Given the description of an element on the screen output the (x, y) to click on. 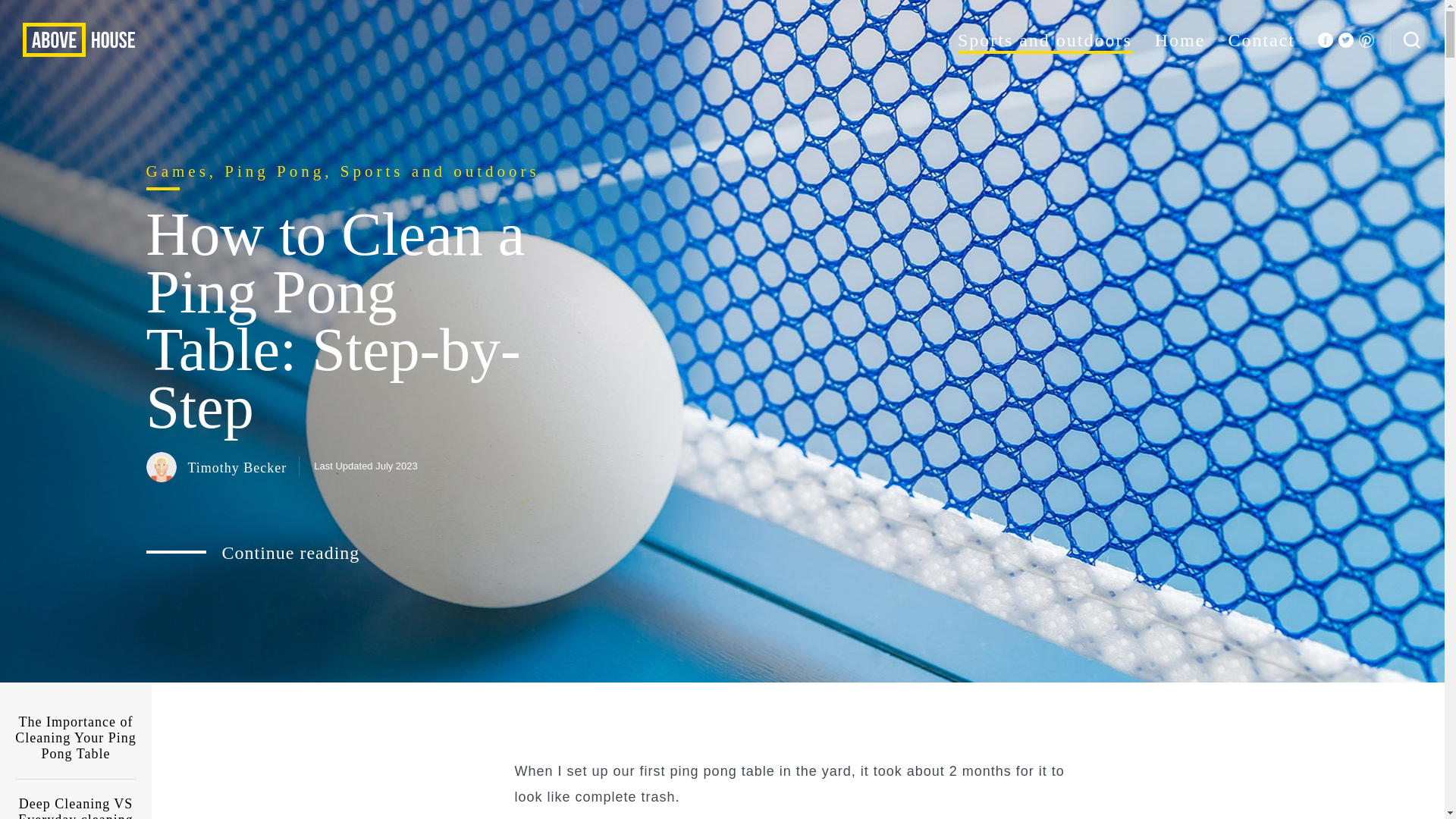
Contact (1261, 40)
Sports and outdoors (1045, 40)
Continue reading (252, 552)
The Importance of Cleaning Your Ping Pong Table (75, 737)
Deep Cleaning VS Everyday cleaning (75, 798)
Home (1179, 40)
